Given the description of an element on the screen output the (x, y) to click on. 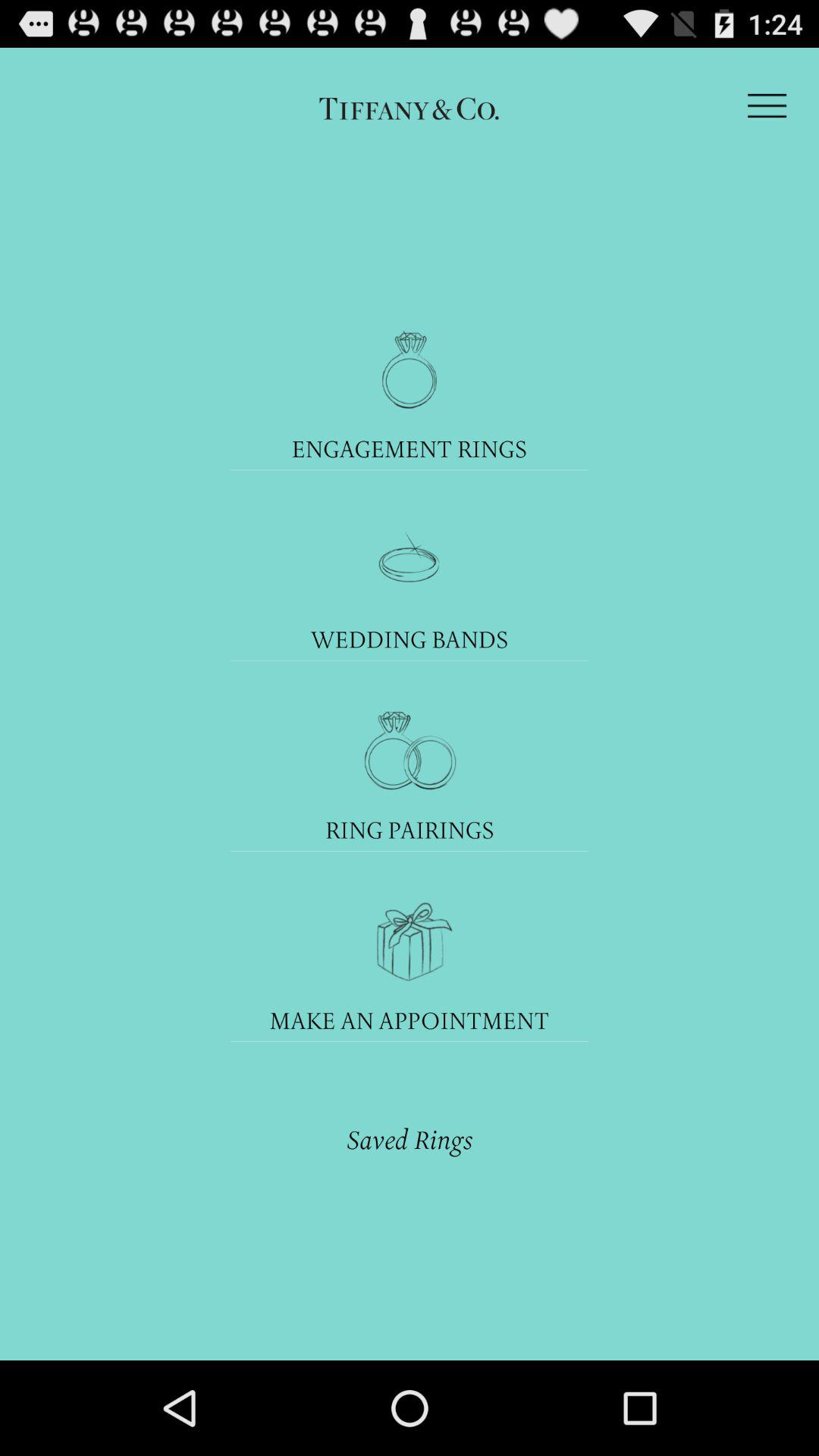
open the icon at the top right corner (767, 105)
